Given the description of an element on the screen output the (x, y) to click on. 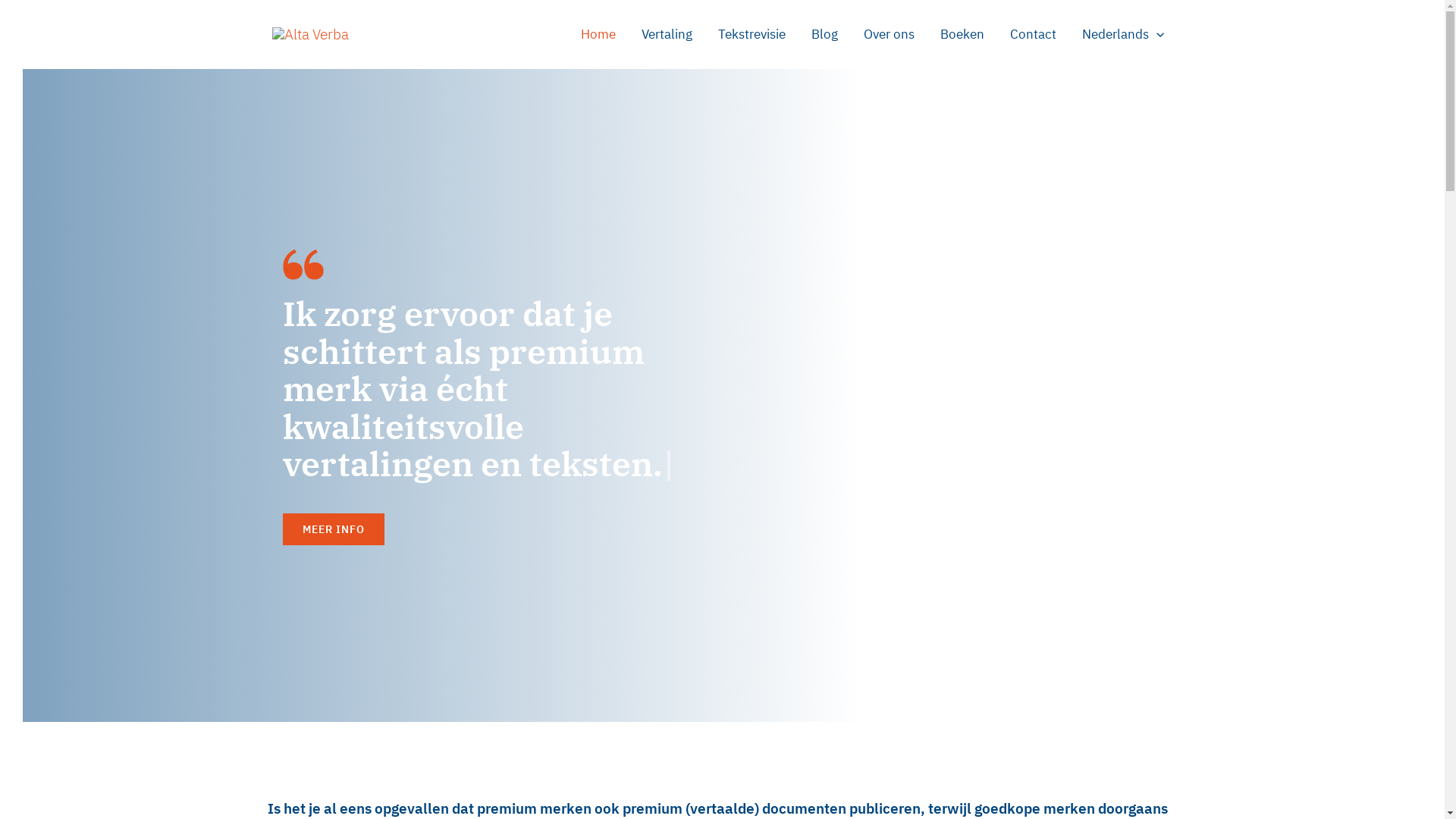
Tekstrevisie Element type: text (751, 34)
Over ons Element type: text (888, 34)
Vertaling Element type: text (666, 34)
Boeken Element type: text (962, 34)
Contact Element type: text (1033, 34)
Home Element type: text (597, 34)
Blog Element type: text (824, 34)
MEER INFO Element type: text (332, 529)
Nederlands Element type: text (1122, 34)
